Given the description of an element on the screen output the (x, y) to click on. 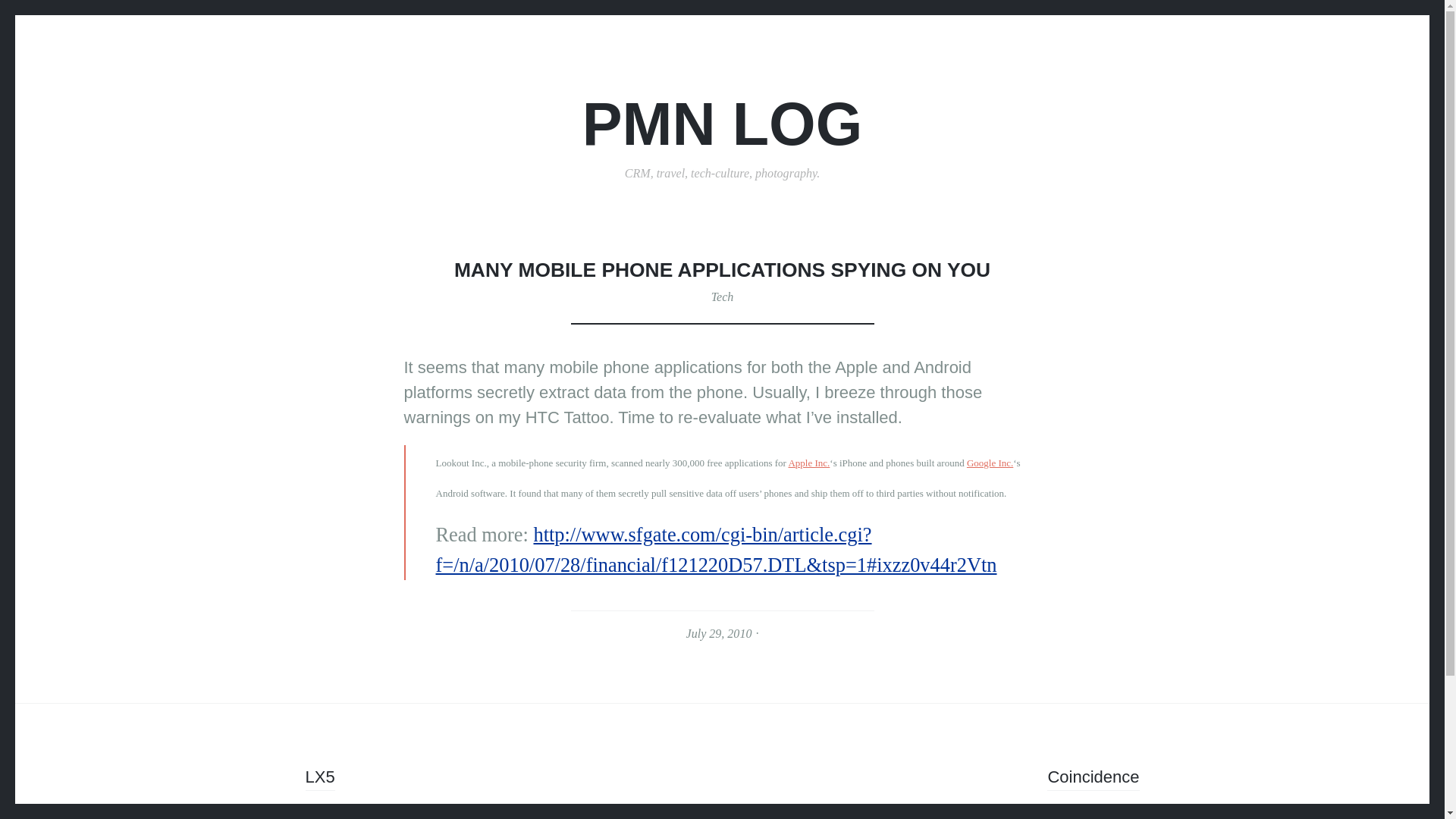
PMN LOG (722, 123)
Apple Inc. (808, 462)
Coincidence (1092, 779)
Tech (722, 296)
July 29, 2010 (718, 633)
LX5 (319, 779)
Google Inc. (989, 462)
